Given the description of an element on the screen output the (x, y) to click on. 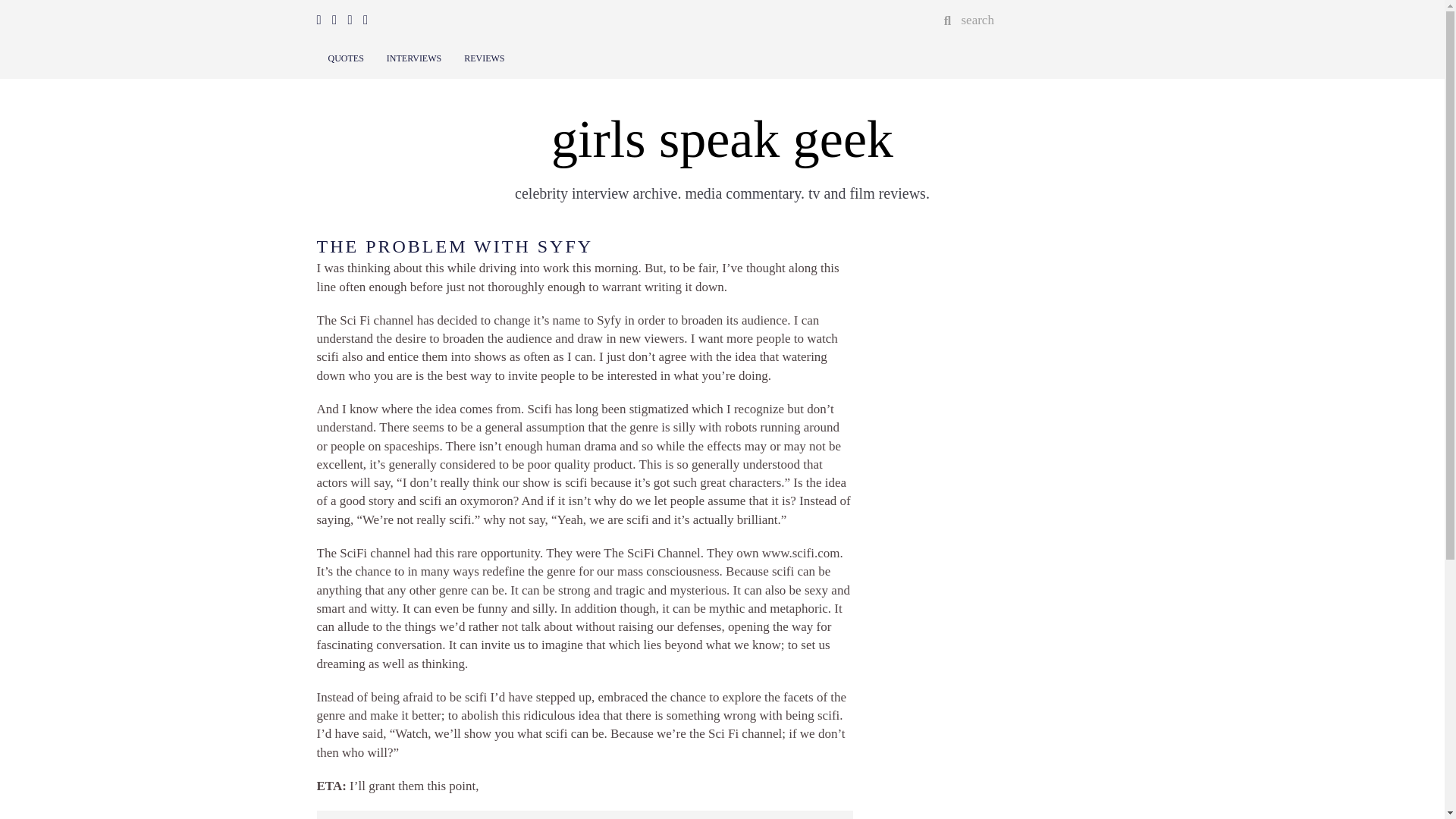
girls speak geek (722, 138)
REVIEWS (483, 58)
QUOTES (346, 58)
INTERVIEWS (413, 58)
